Given the description of an element on the screen output the (x, y) to click on. 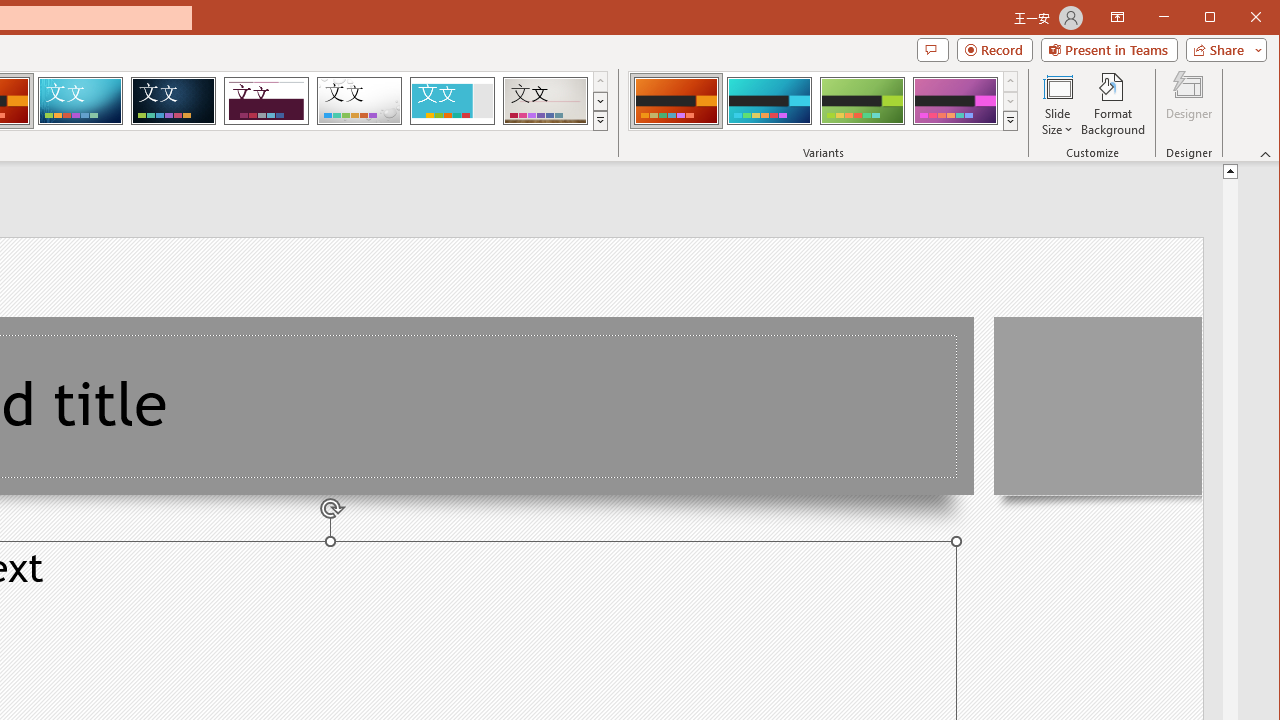
Berlin Variant 4 (955, 100)
AutomationID: ThemeVariantsGallery (824, 101)
Variants (1010, 120)
Dividend (266, 100)
Droplet (359, 100)
Berlin Variant 1 (676, 100)
Circuit (80, 100)
